Given the description of an element on the screen output the (x, y) to click on. 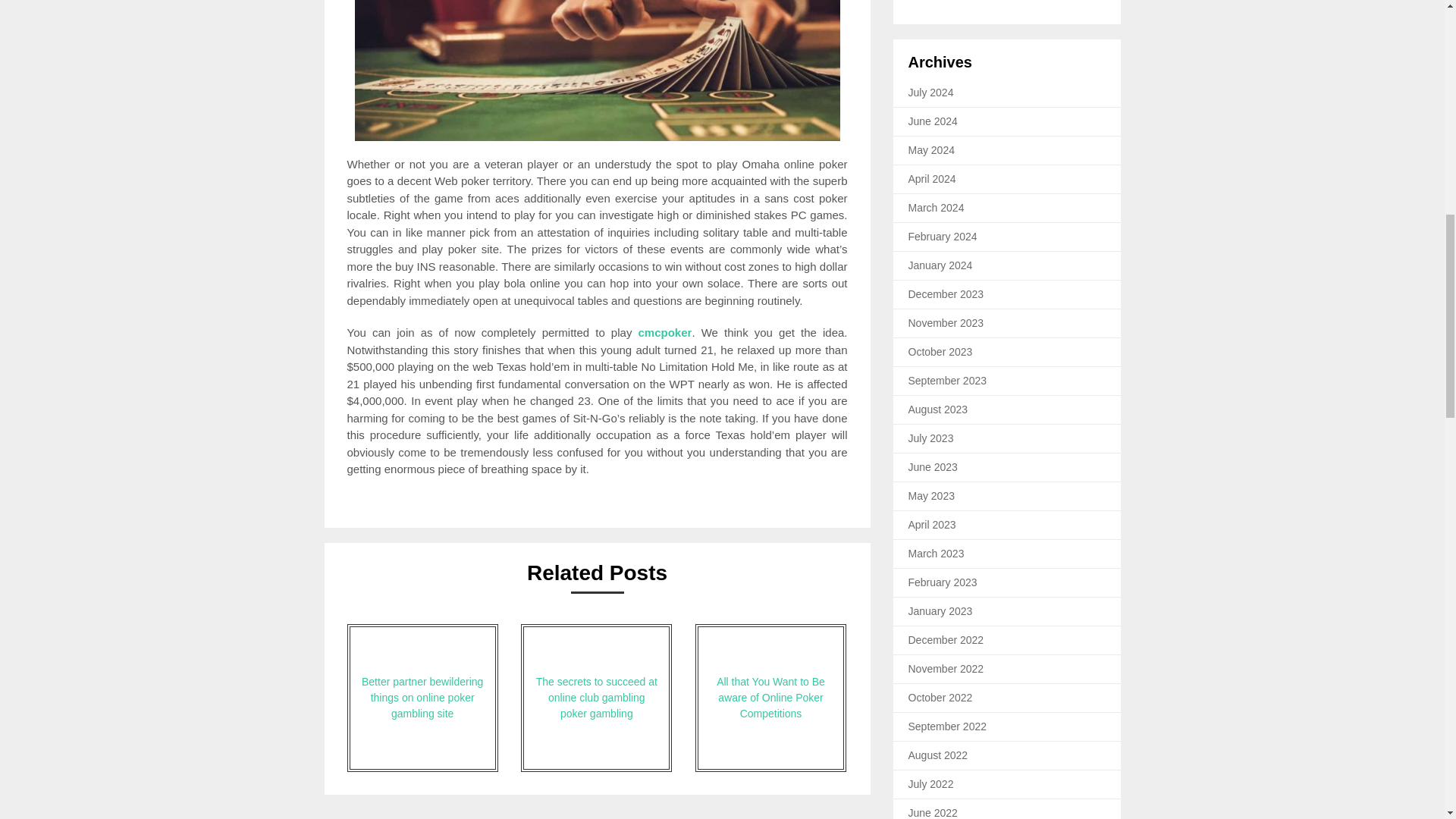
October 2023 (940, 351)
August 2022 (938, 755)
July 2022 (930, 784)
cmcpoker (666, 332)
March 2023 (935, 553)
November 2023 (946, 322)
All that You Want to Be aware of Online Poker Competitions (770, 698)
January 2024 (940, 265)
May 2023 (931, 495)
March 2024 (935, 207)
December 2023 (946, 294)
June 2023 (933, 467)
November 2022 (946, 668)
